Given the description of an element on the screen output the (x, y) to click on. 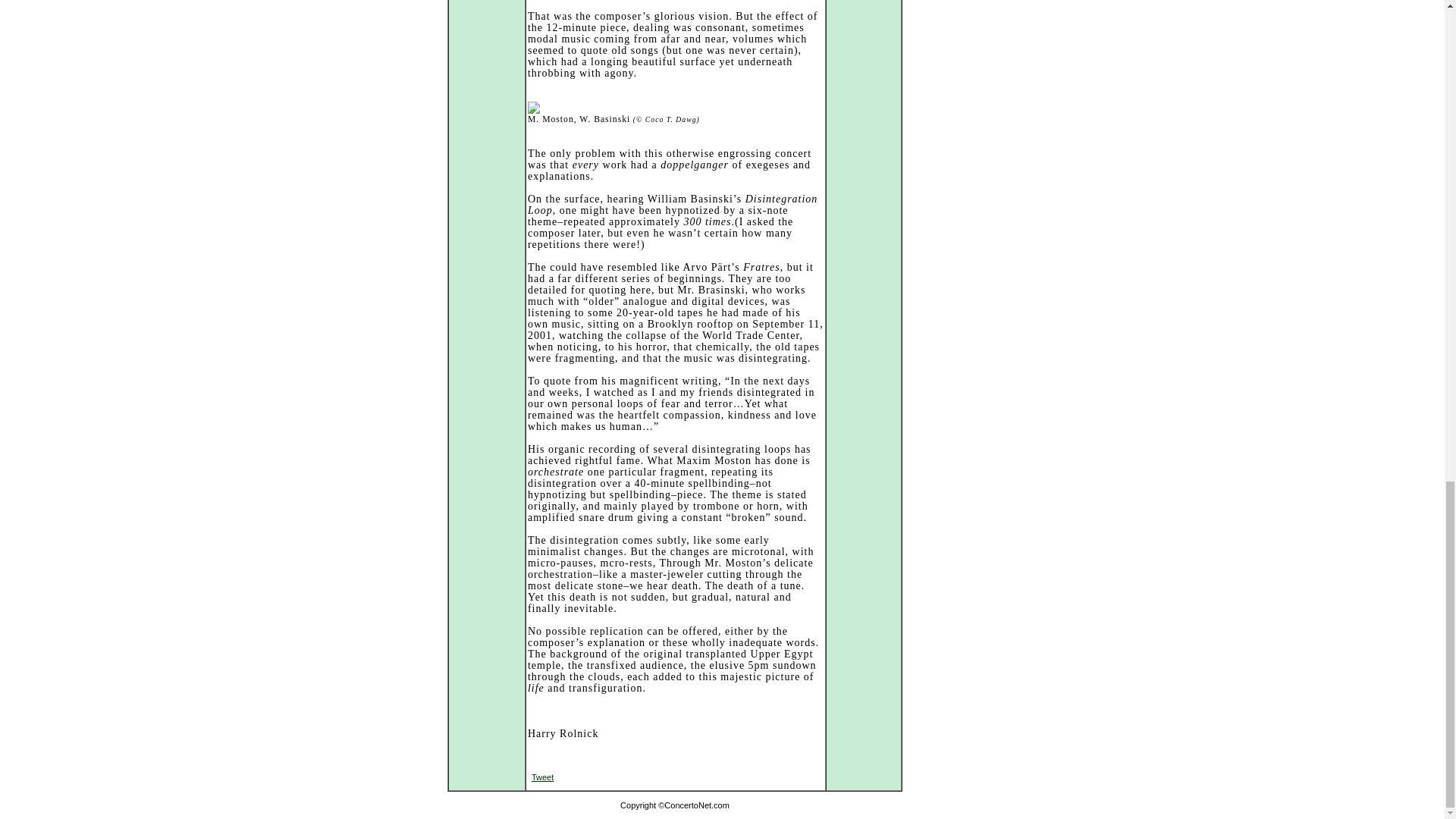
Tweet (542, 777)
